Given the description of an element on the screen output the (x, y) to click on. 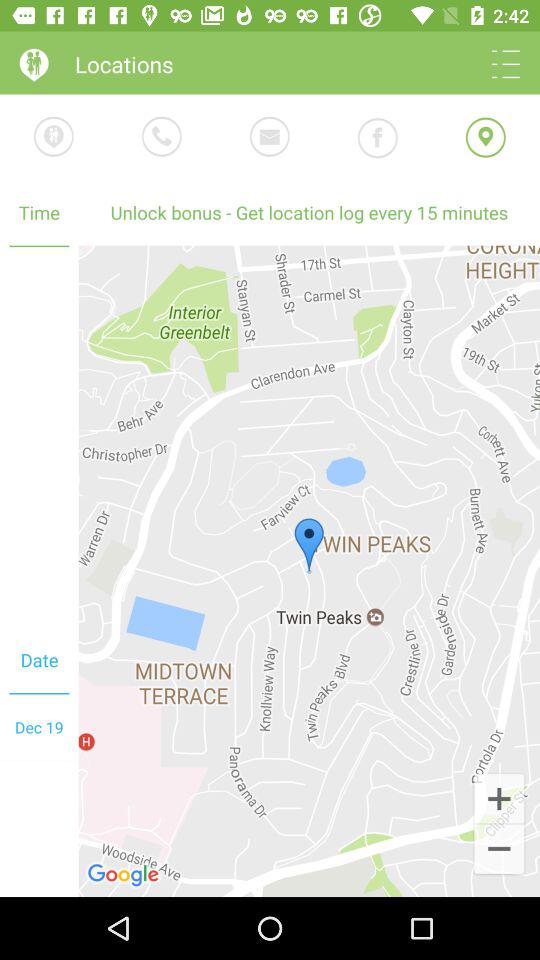
click icon to the left of unlock bonus get (39, 437)
